Given the description of an element on the screen output the (x, y) to click on. 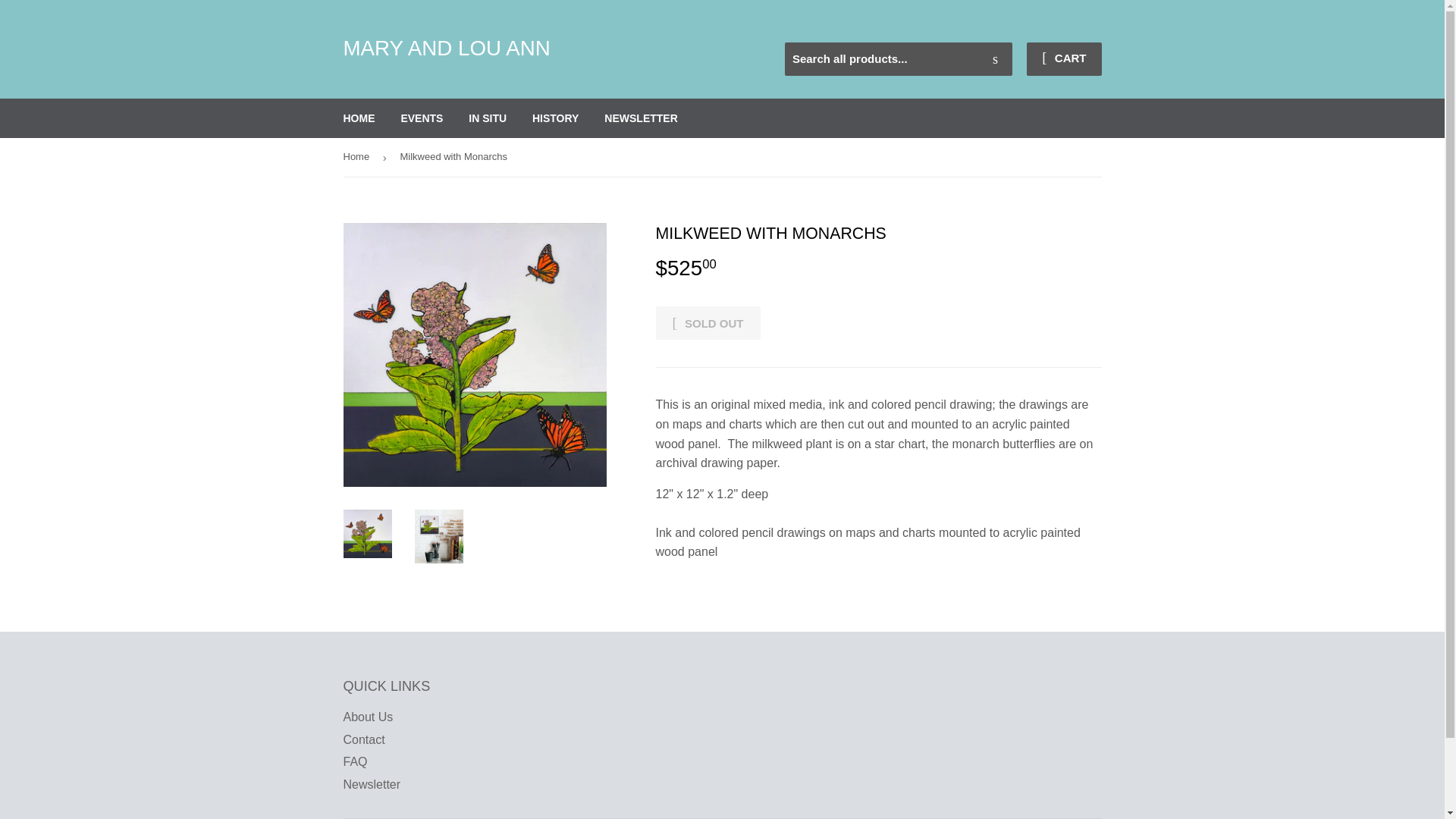
SOLD OUT (707, 322)
EVENTS (421, 118)
IN SITU (487, 118)
About Us (367, 716)
FAQ (354, 761)
NEWSLETTER (640, 118)
CART (1063, 59)
HISTORY (555, 118)
HOME (359, 118)
Newsletter (371, 784)
